Given the description of an element on the screen output the (x, y) to click on. 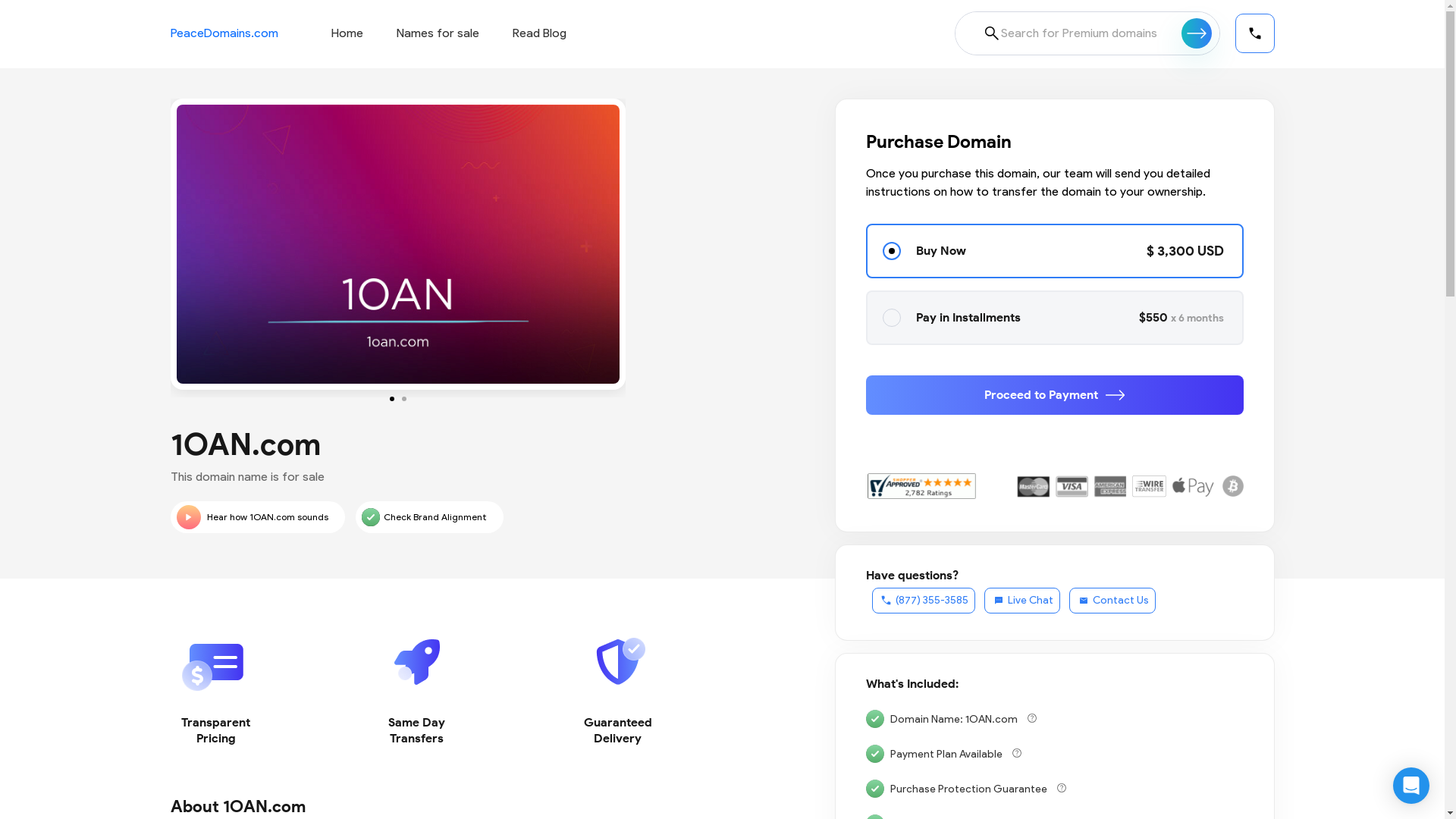
Home Element type: text (346, 33)
Proceed to Payment Element type: text (1054, 394)
Check Brand Alignment Element type: text (428, 517)
Read Blog Element type: text (539, 33)
Contact Us Element type: text (1112, 600)
Names for sale Element type: text (436, 33)
Buy Now
$ 3,300 USD Element type: text (1054, 250)
(877) 355-3585 Element type: text (923, 600)
Hear how 1OAN.com sounds Element type: text (256, 517)
PeaceDomains.com Element type: text (223, 33)
Live Chat Element type: text (1022, 600)
